Given the description of an element on the screen output the (x, y) to click on. 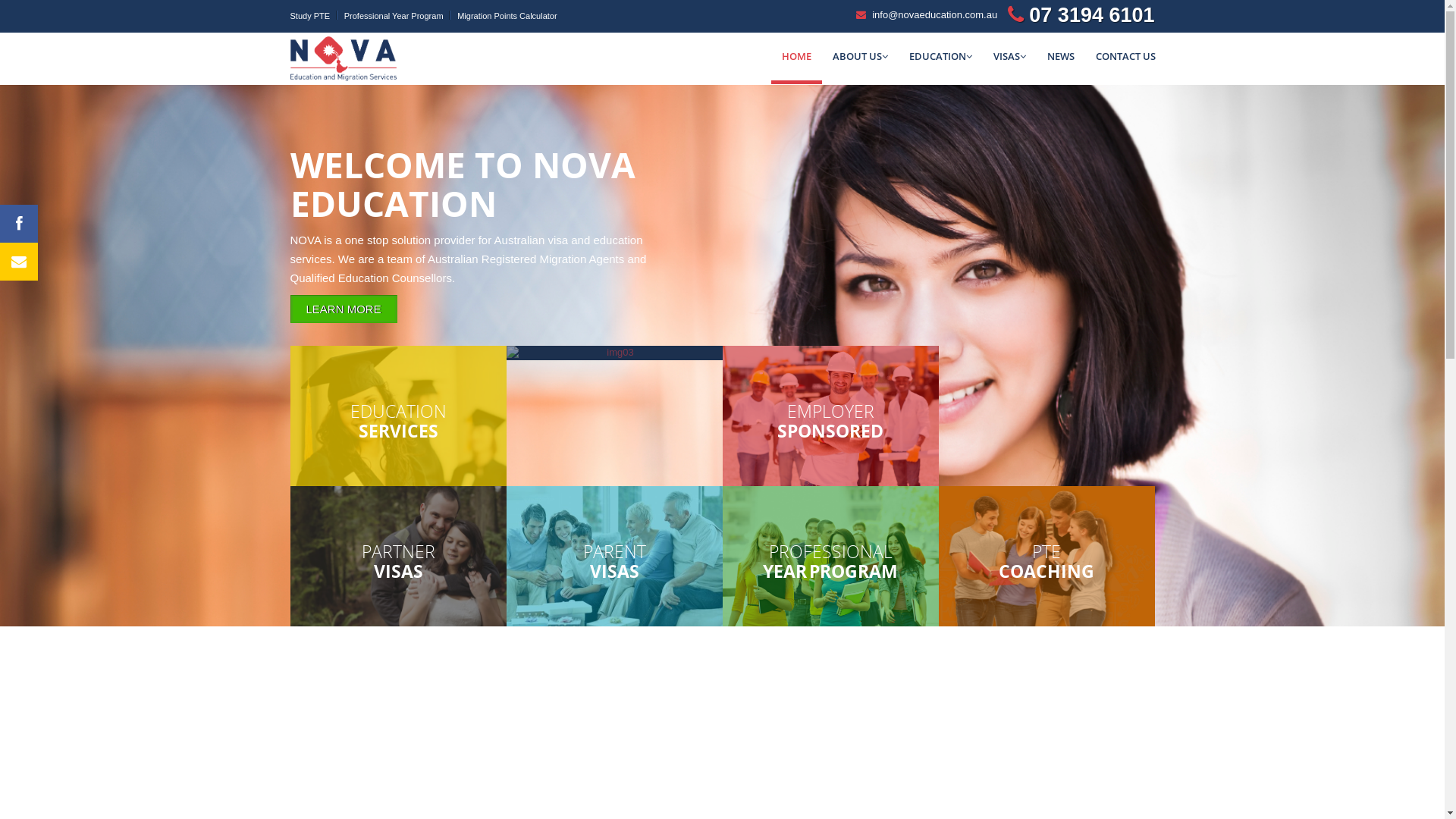
Study PTE Element type: text (309, 15)
LEARN MORE Element type: text (342, 308)
HOME Element type: text (795, 58)
VISAS Element type: text (1009, 56)
info@novaeducation.com.au Element type: text (934, 14)
CONTACT US Element type: text (1124, 56)
Professional Year Program Element type: text (393, 15)
Migration Points Calculator Element type: text (506, 15)
NEWS Element type: text (1059, 56)
ABOUT US Element type: text (860, 56)
EDUCATION Element type: text (939, 56)
07 3194 6101 Element type: text (1091, 14)
